Given the description of an element on the screen output the (x, y) to click on. 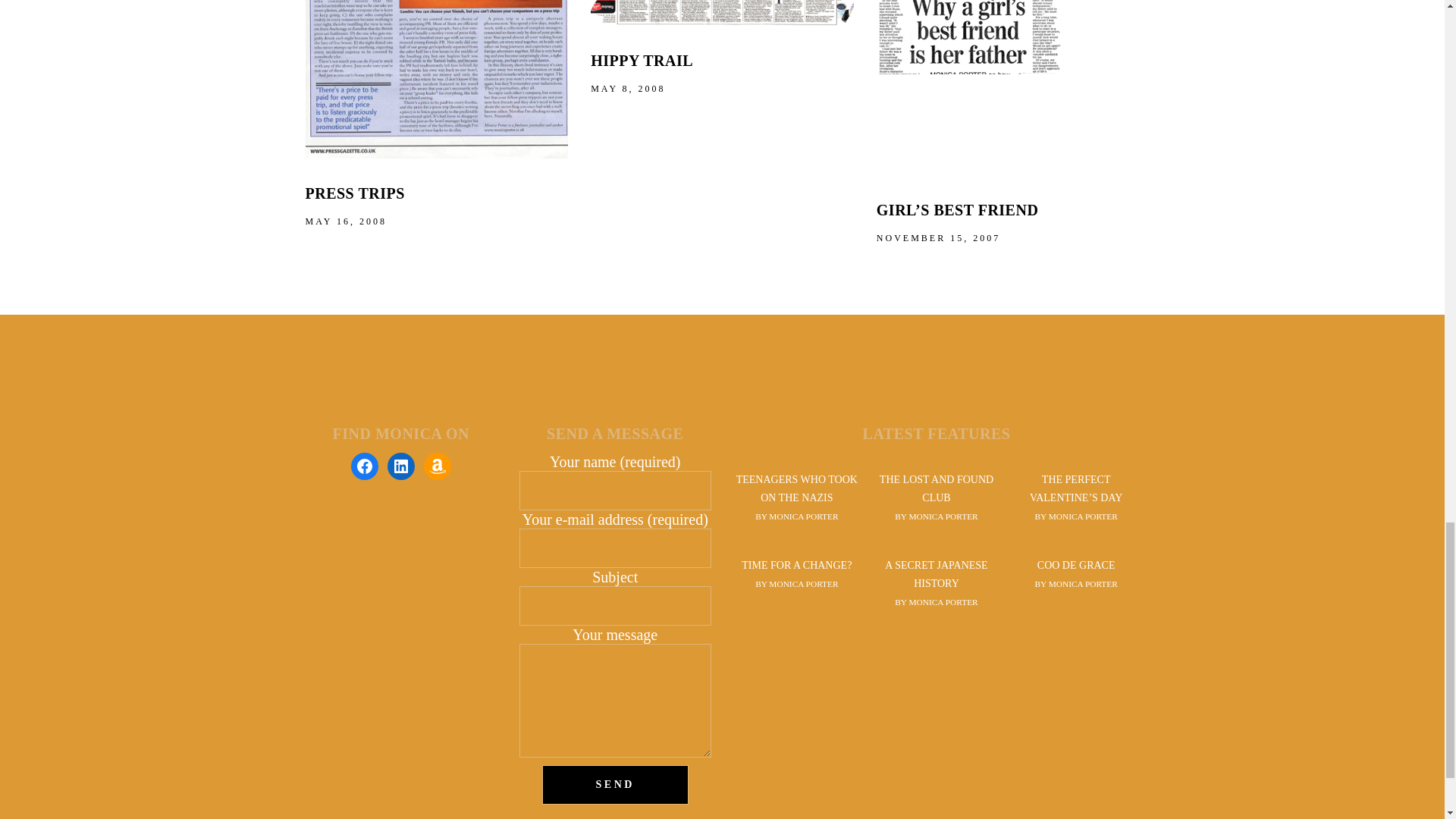
Send (614, 784)
Hippy Trail (642, 60)
Hippy Trail (722, 12)
Press Trips (435, 79)
Press Trips (354, 193)
